Given the description of an element on the screen output the (x, y) to click on. 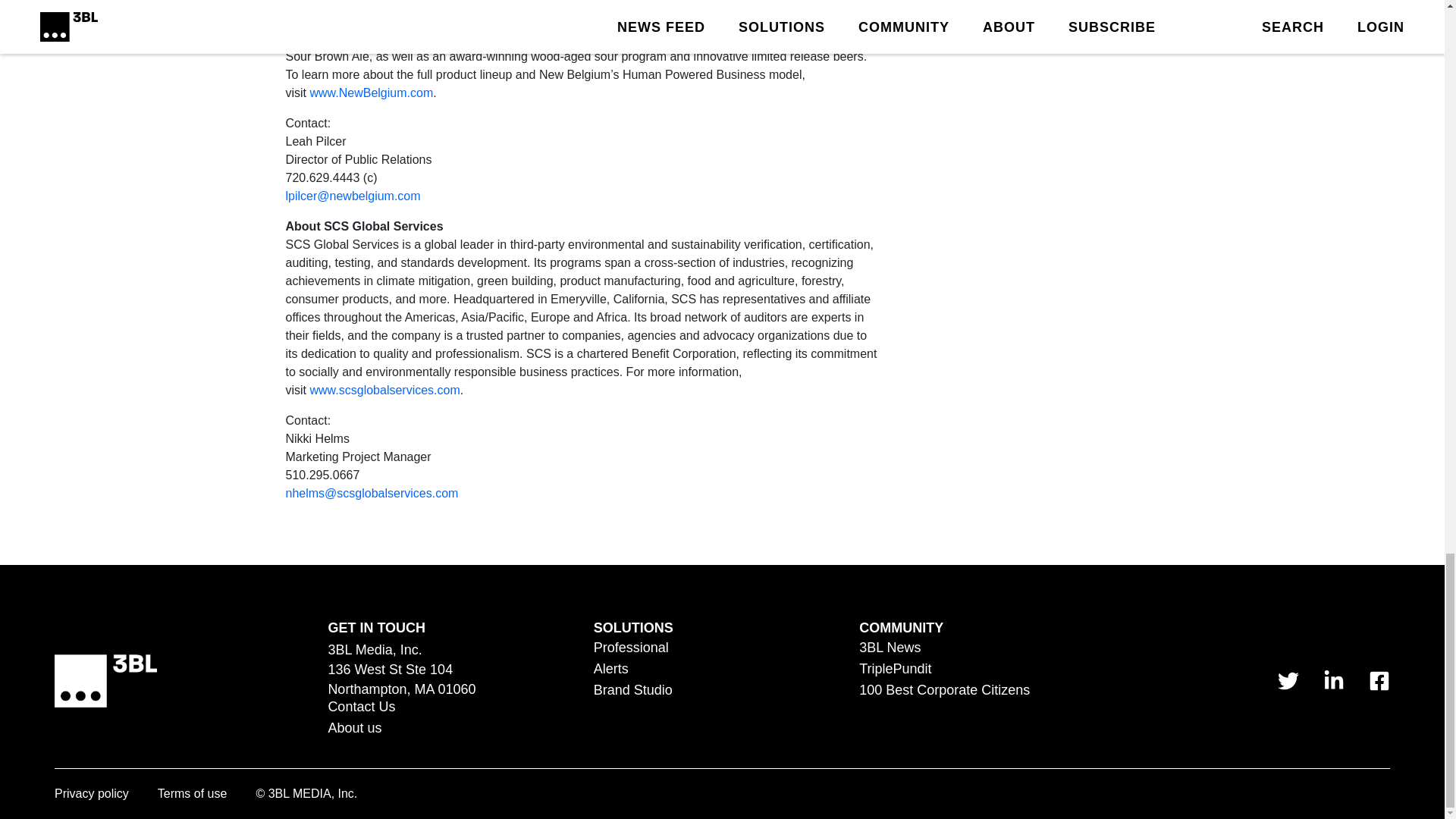
link to 3 B L Media's Linkedin (1333, 680)
link to 3 B L Media's Facebook (1379, 680)
link to 3 B L Media's Twitter (1288, 680)
